Given the description of an element on the screen output the (x, y) to click on. 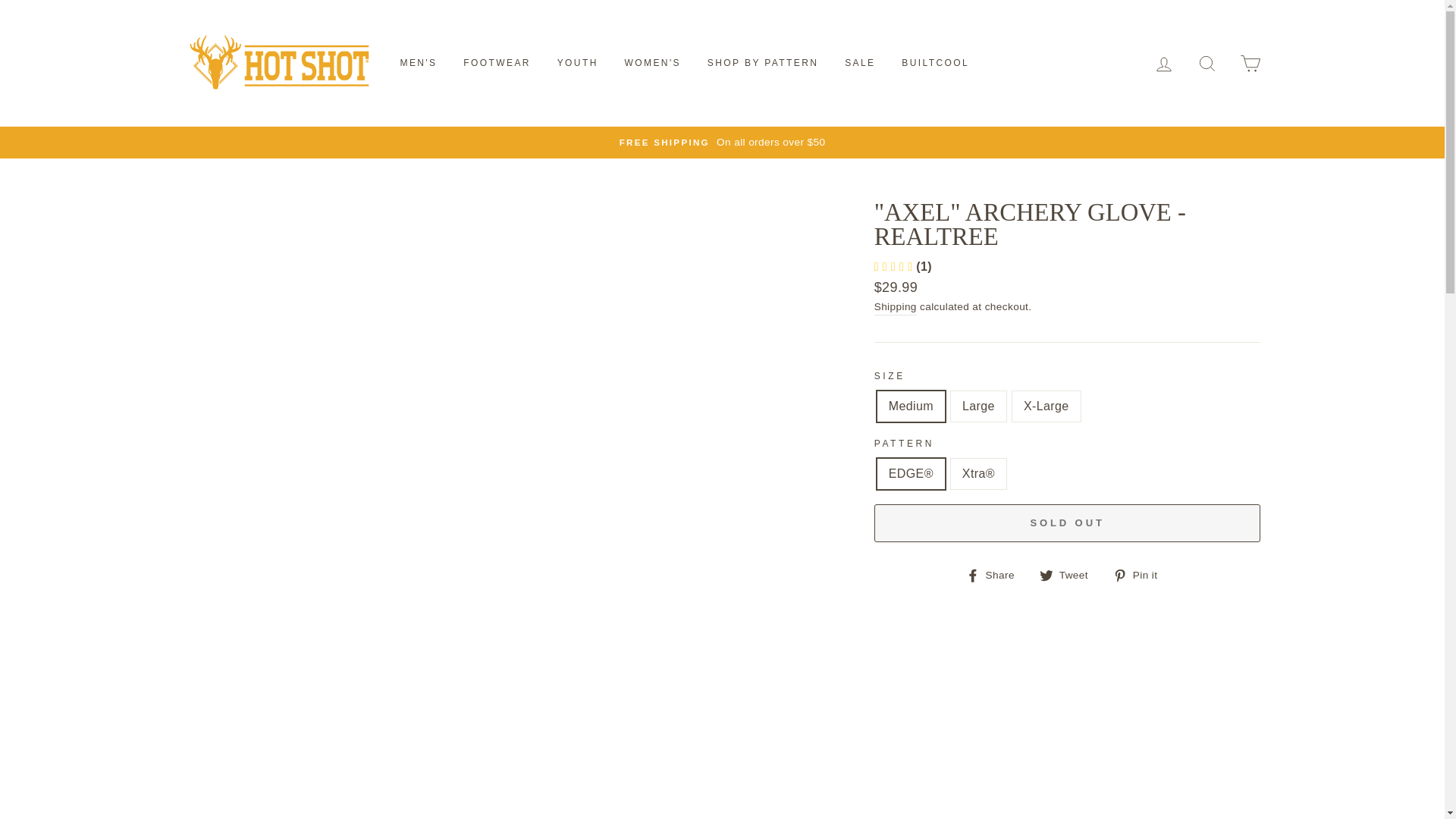
Tweet on Twitter (1069, 574)
Pin on Pinterest (1141, 574)
Share on Facebook (996, 574)
